Given the description of an element on the screen output the (x, y) to click on. 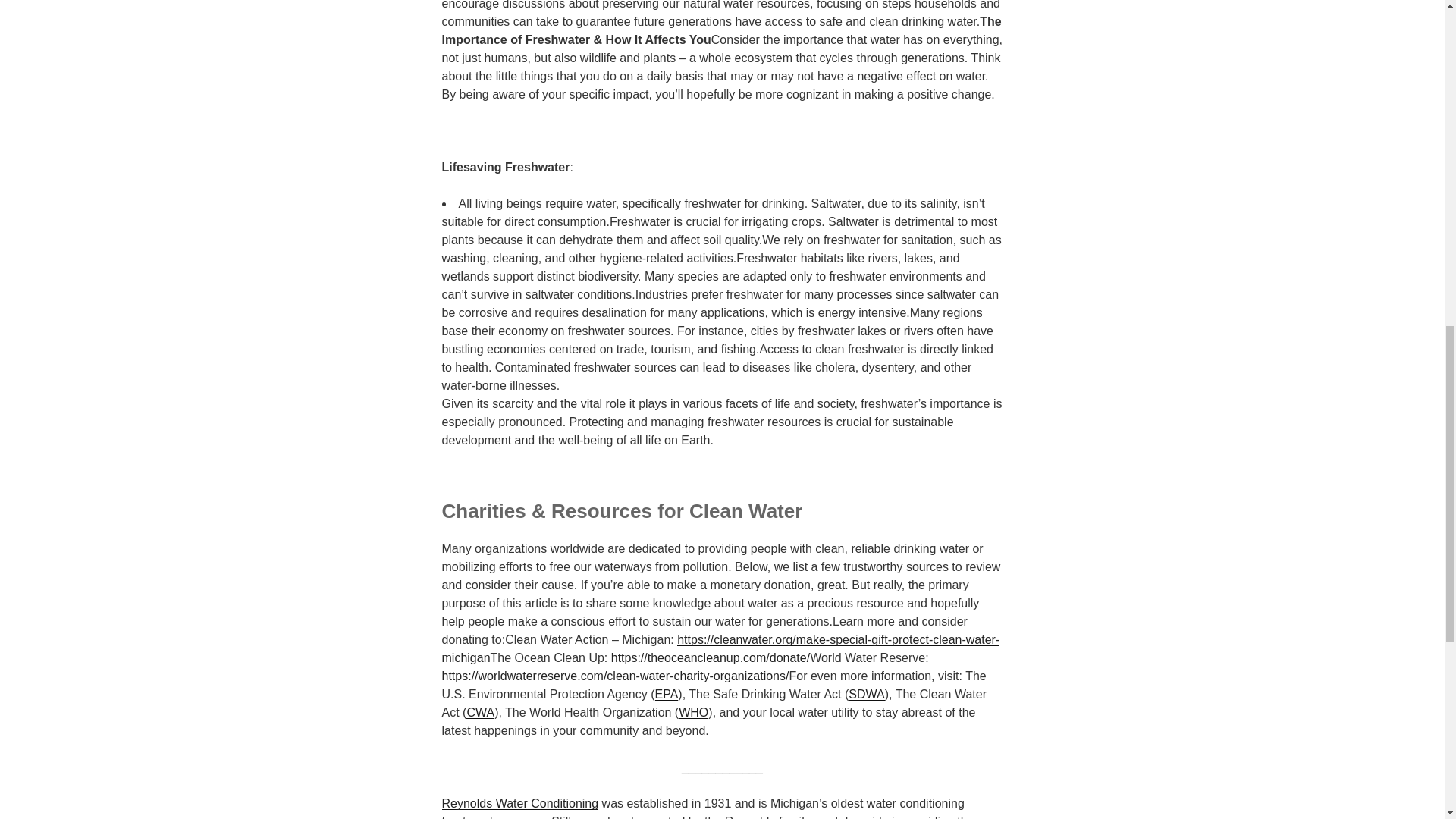
CWA (480, 712)
Reynolds Water Conditioning (519, 802)
EPA (666, 694)
WHO (692, 712)
SDWA (865, 694)
